Given the description of an element on the screen output the (x, y) to click on. 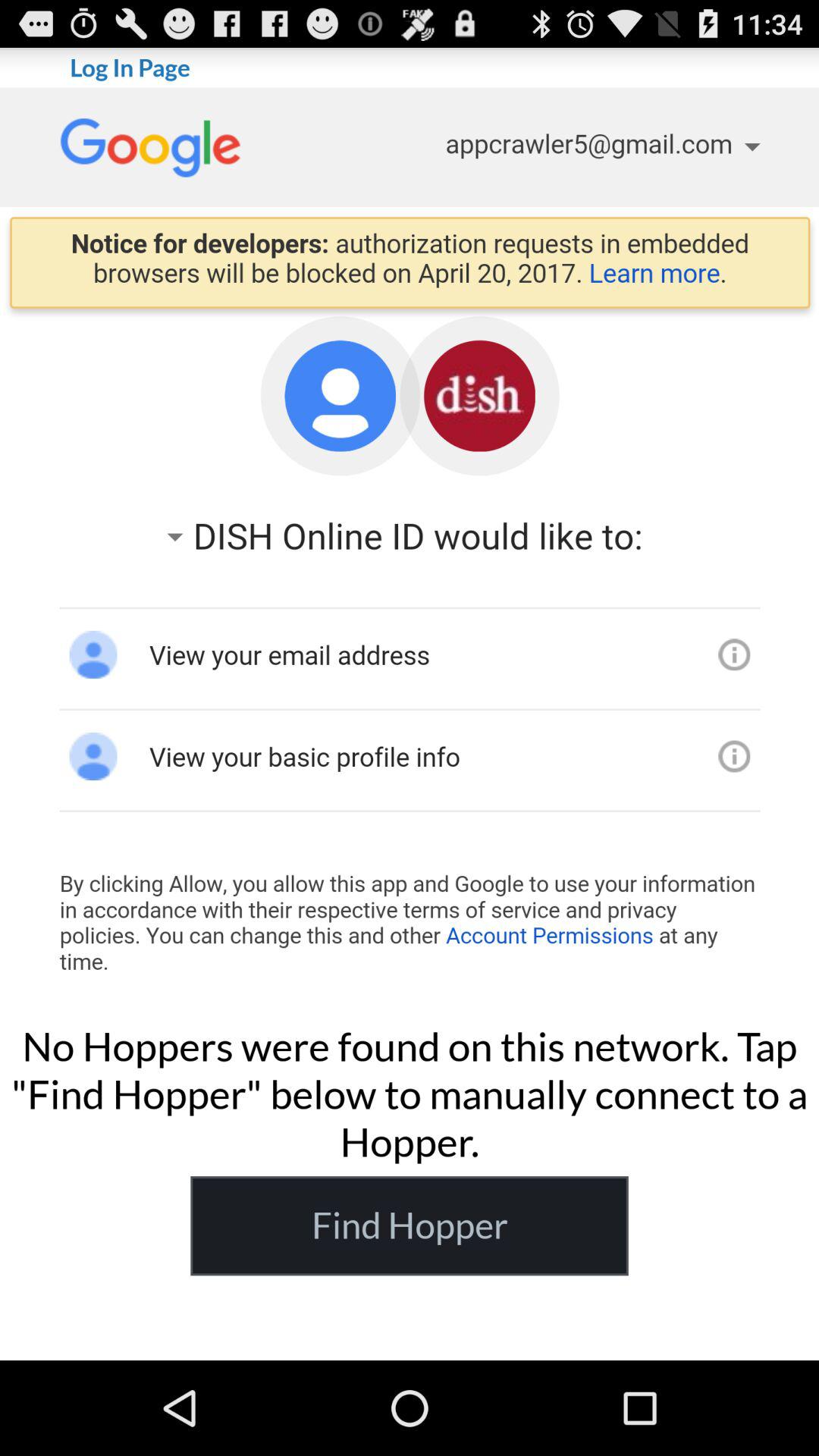
log in page (409, 547)
